Given the description of an element on the screen output the (x, y) to click on. 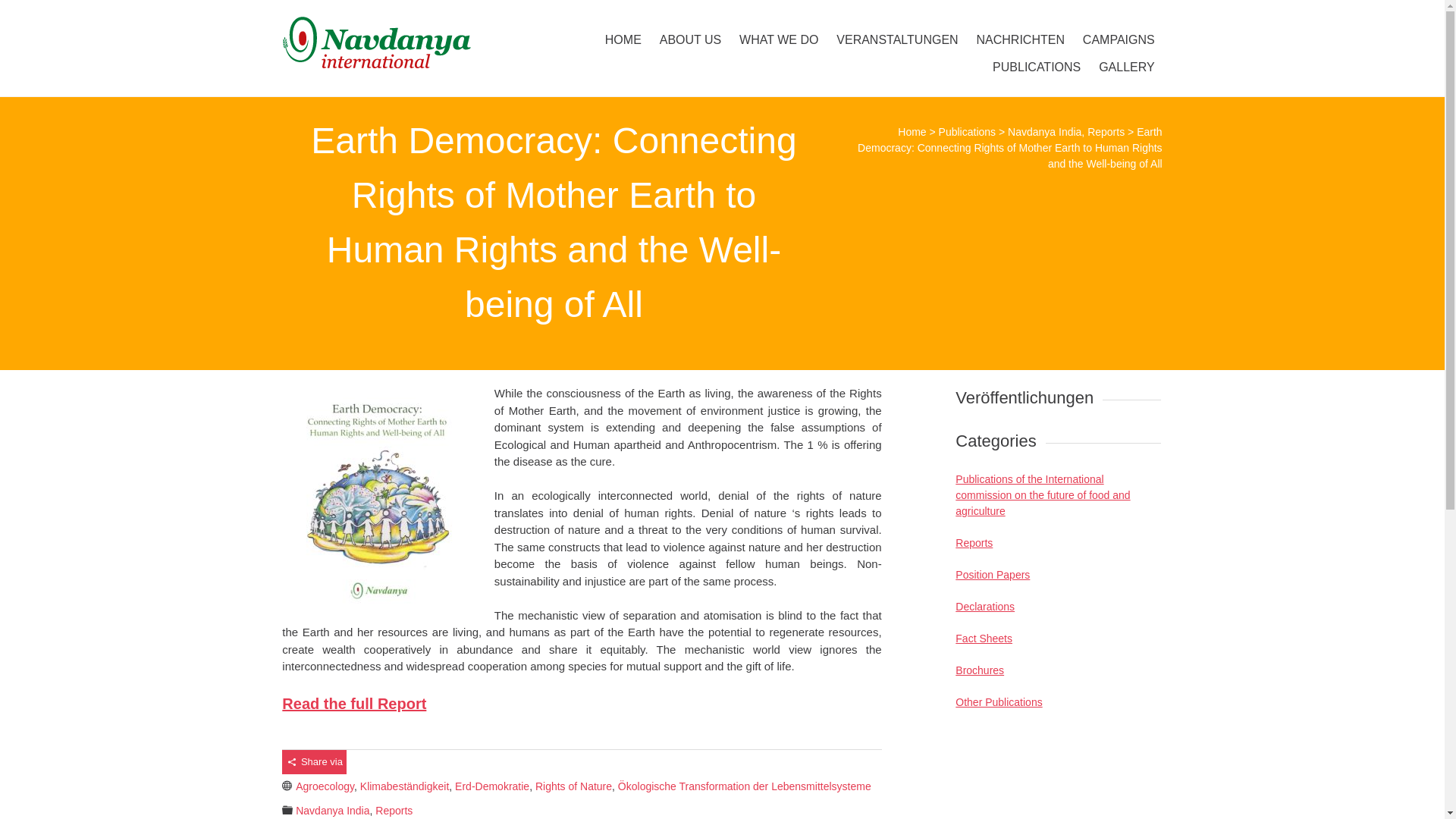
Search (21, 12)
DONATE (1125, 15)
Facebook (922, 15)
WHAT WE DO (778, 40)
Contact (892, 15)
HOME (622, 40)
Deutsch (367, 14)
Join Us (307, 14)
Flickr (1044, 15)
Navdanya international -  (413, 42)
